Given the description of an element on the screen output the (x, y) to click on. 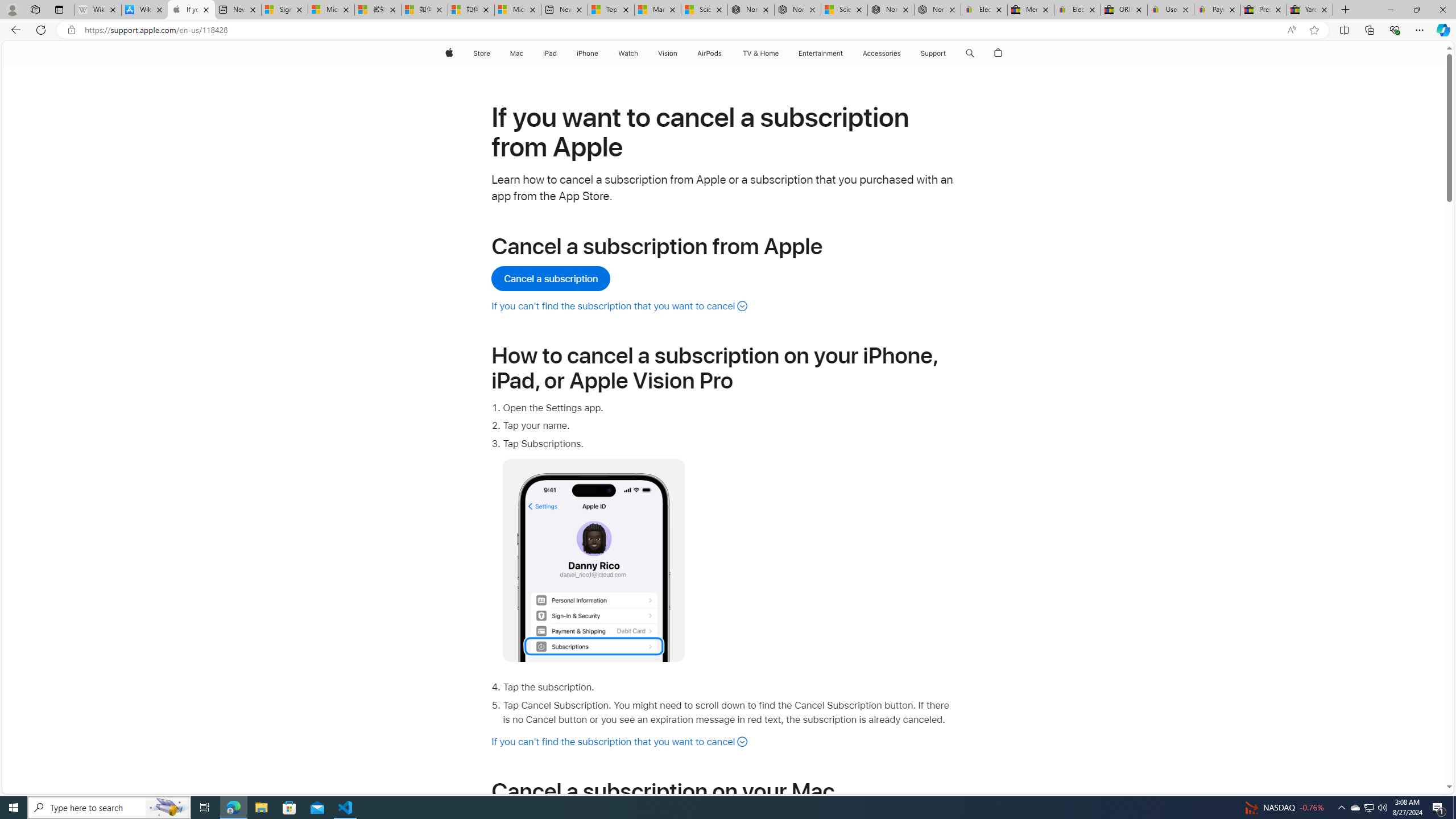
iPhone (587, 53)
AirPods (709, 53)
Yard, Garden & Outdoor Living (1309, 9)
Nordace - FAQ (937, 9)
Support (932, 53)
TV & Home (759, 53)
Accessories (881, 53)
Watch menu (640, 53)
